Given the description of an element on the screen output the (x, y) to click on. 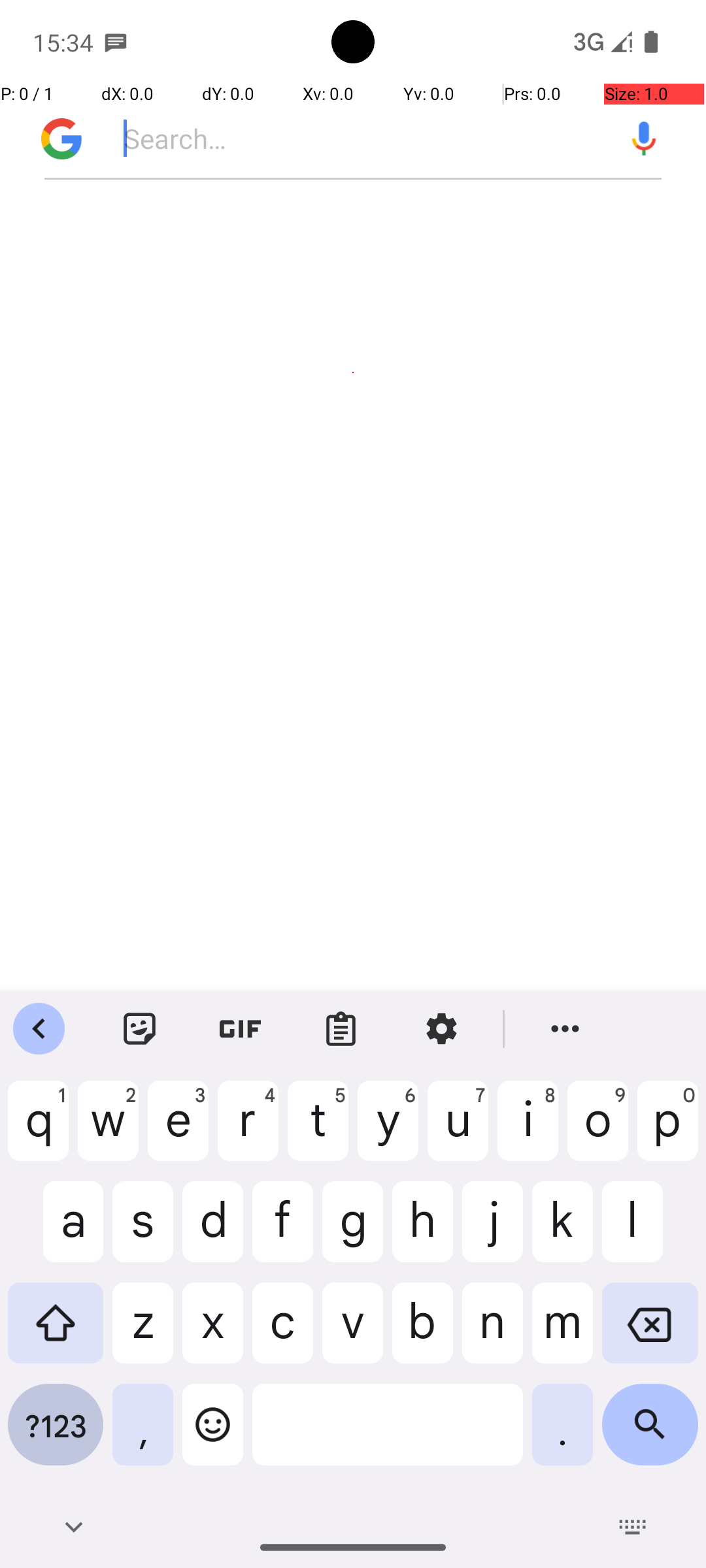
Go to Discover Element type: android.widget.FrameLayout (54, 138)
Voice Search Element type: android.widget.ImageView (643, 138)
